Given the description of an element on the screen output the (x, y) to click on. 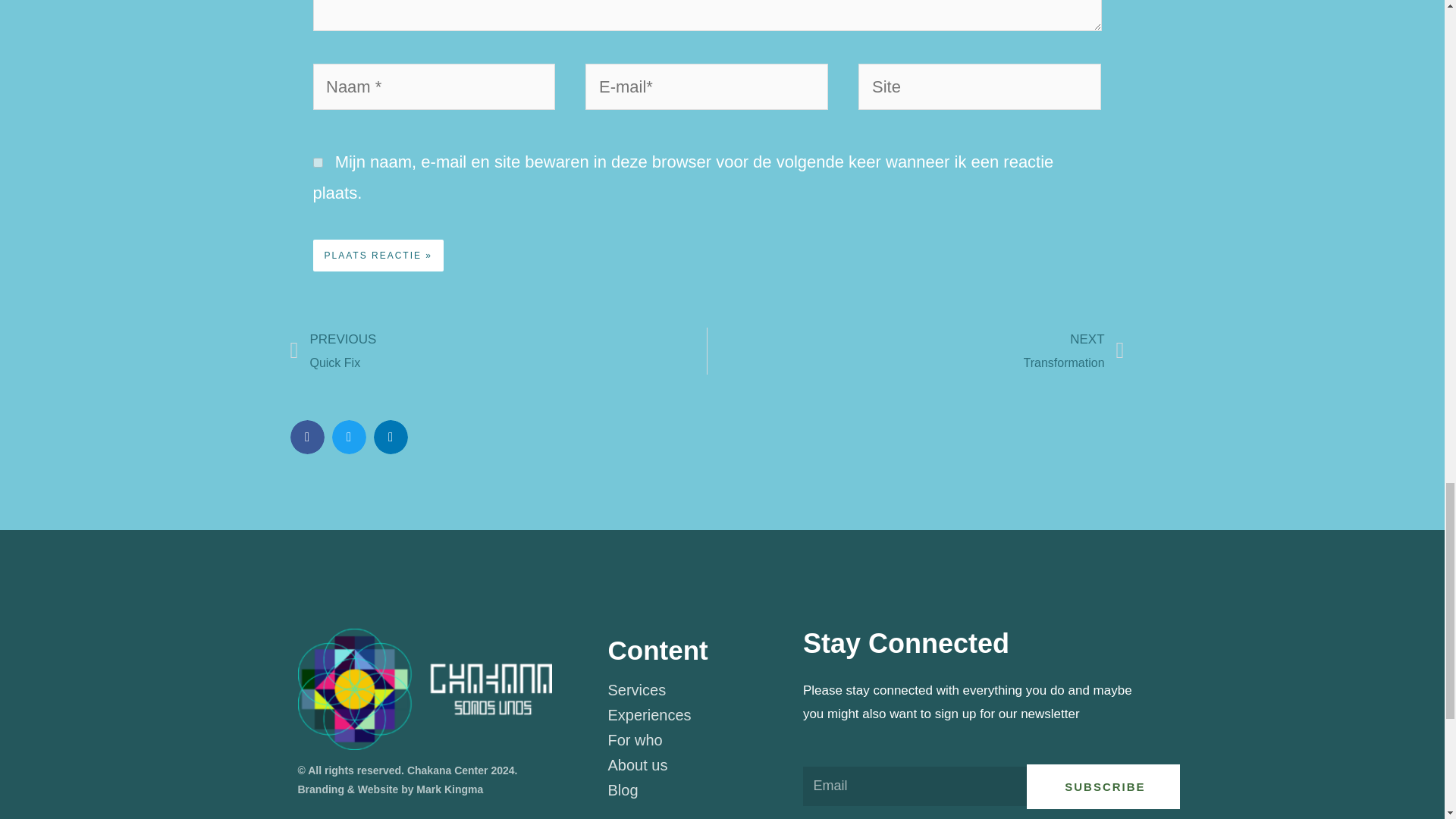
For who (704, 739)
yes (497, 350)
Experiences (317, 162)
SUBSCRIBE (915, 350)
About us (704, 714)
Services (1102, 786)
